Given the description of an element on the screen output the (x, y) to click on. 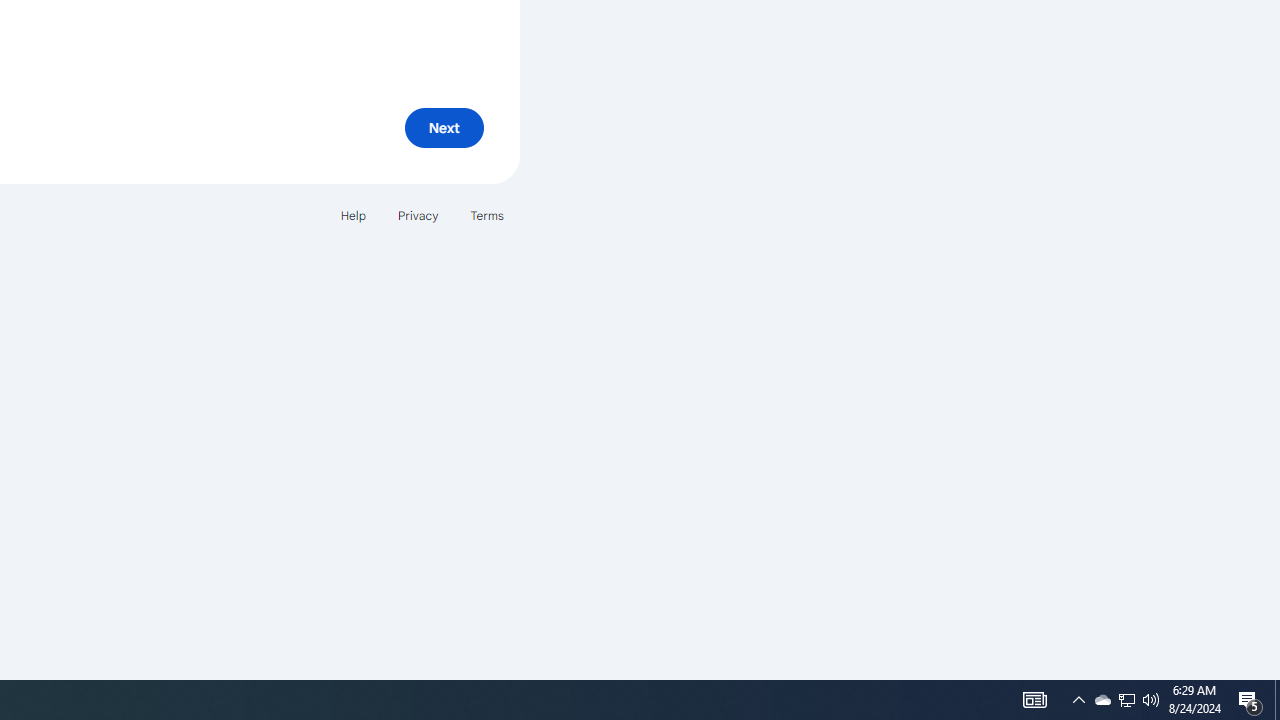
Next (443, 127)
